Given the description of an element on the screen output the (x, y) to click on. 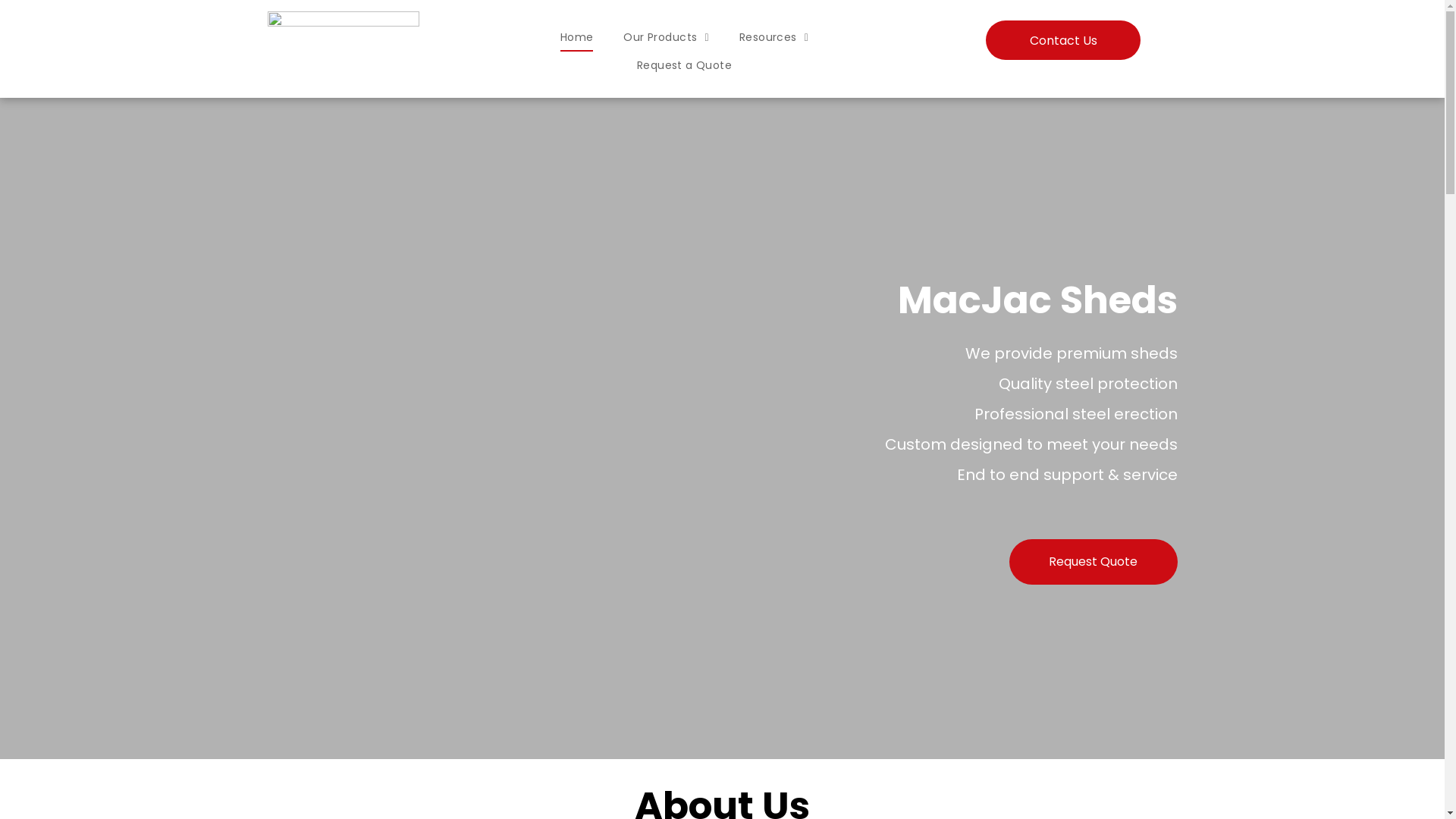
Our Products Element type: text (666, 36)
Request Quote Element type: text (1092, 561)
Resources Element type: text (773, 36)
Home Element type: text (576, 36)
Contact Us Element type: text (1062, 39)
Request a Quote Element type: text (683, 65)
